Given the description of an element on the screen output the (x, y) to click on. 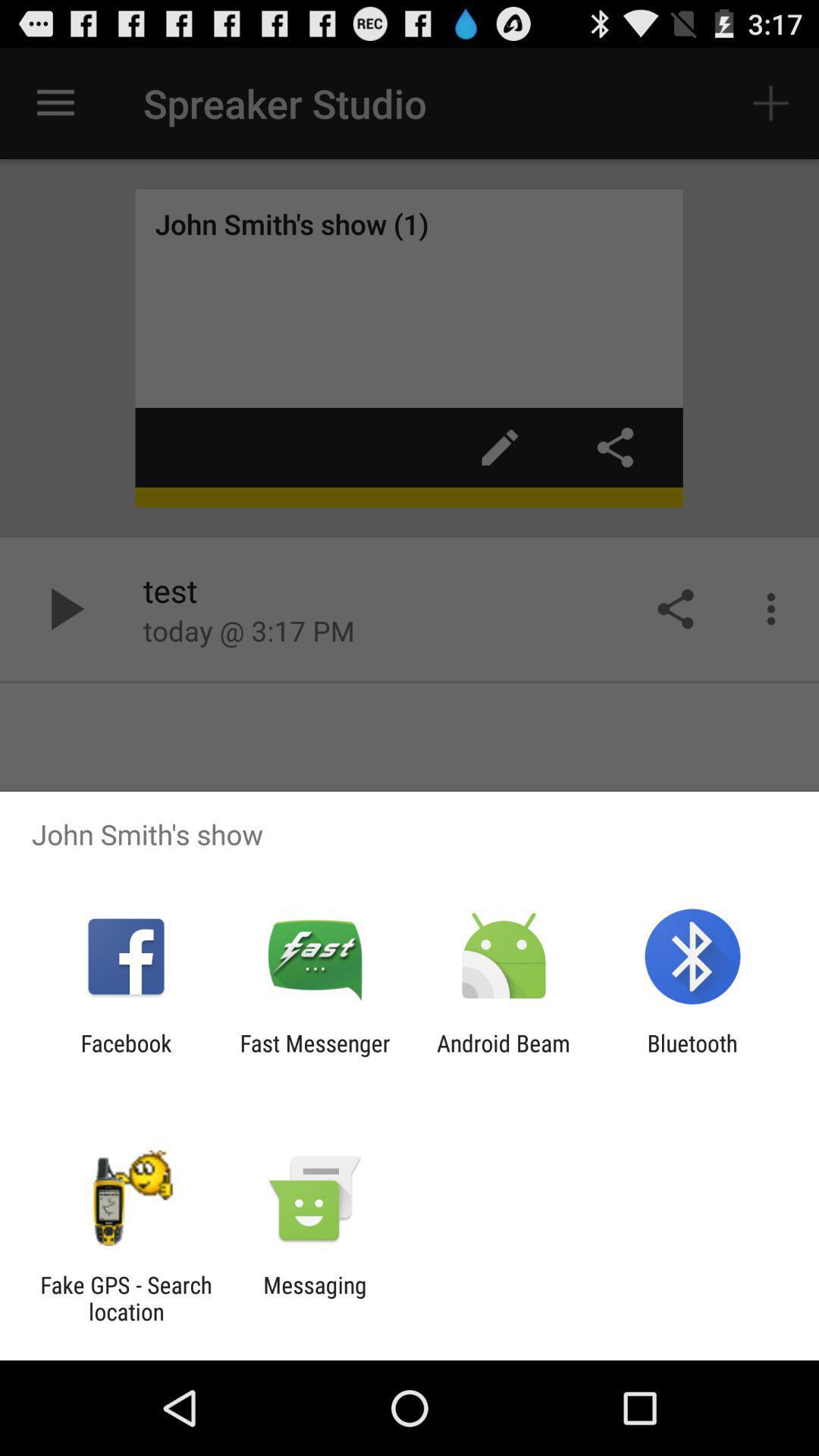
click bluetooth (692, 1056)
